Given the description of an element on the screen output the (x, y) to click on. 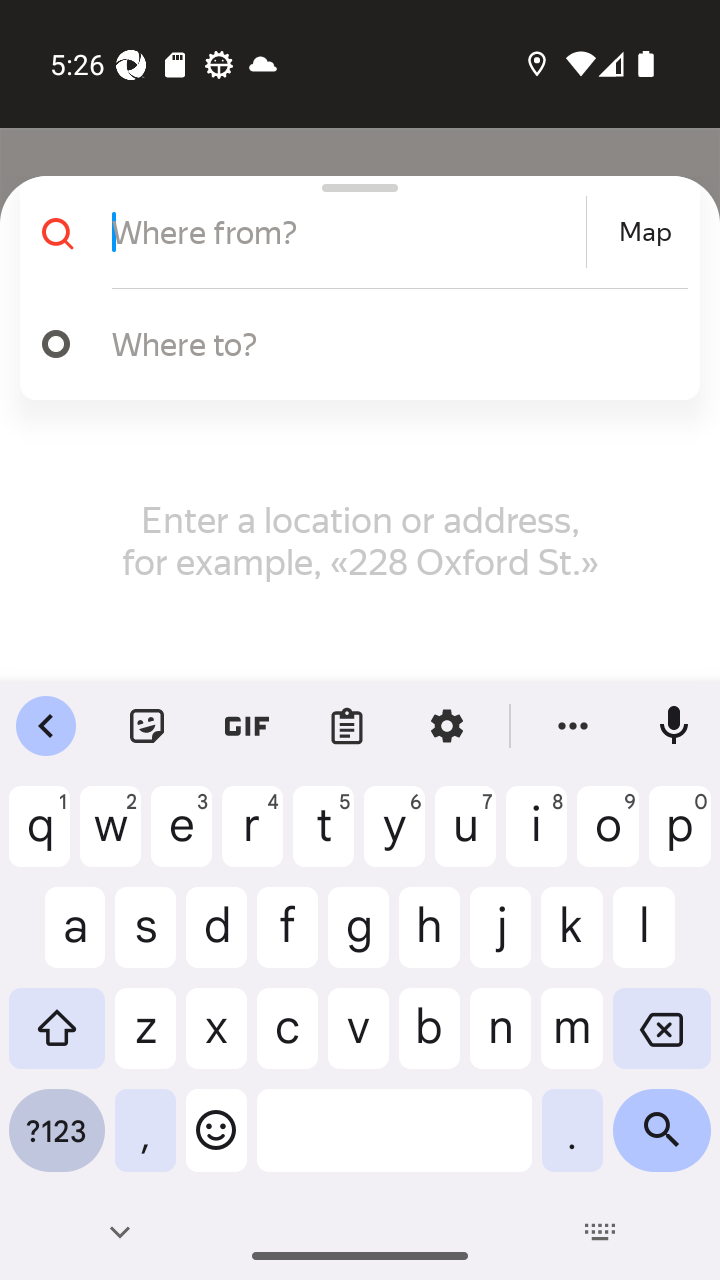
Where from? Map Map (352, 232)
Map (645, 232)
Where from? (346, 232)
Where to? (352, 343)
Where to? (390, 343)
